Given the description of an element on the screen output the (x, y) to click on. 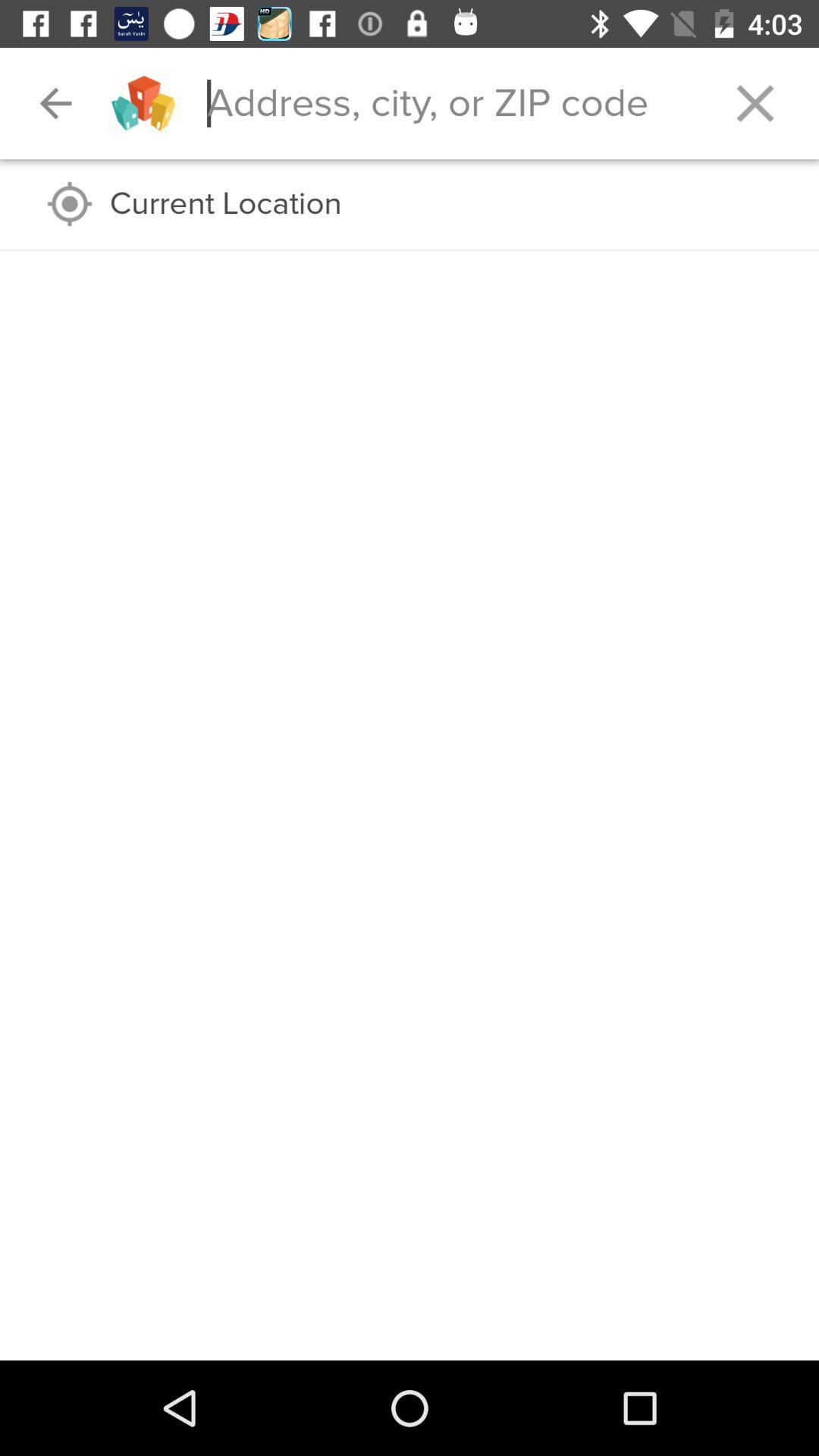
click current location item (448, 204)
